Given the description of an element on the screen output the (x, y) to click on. 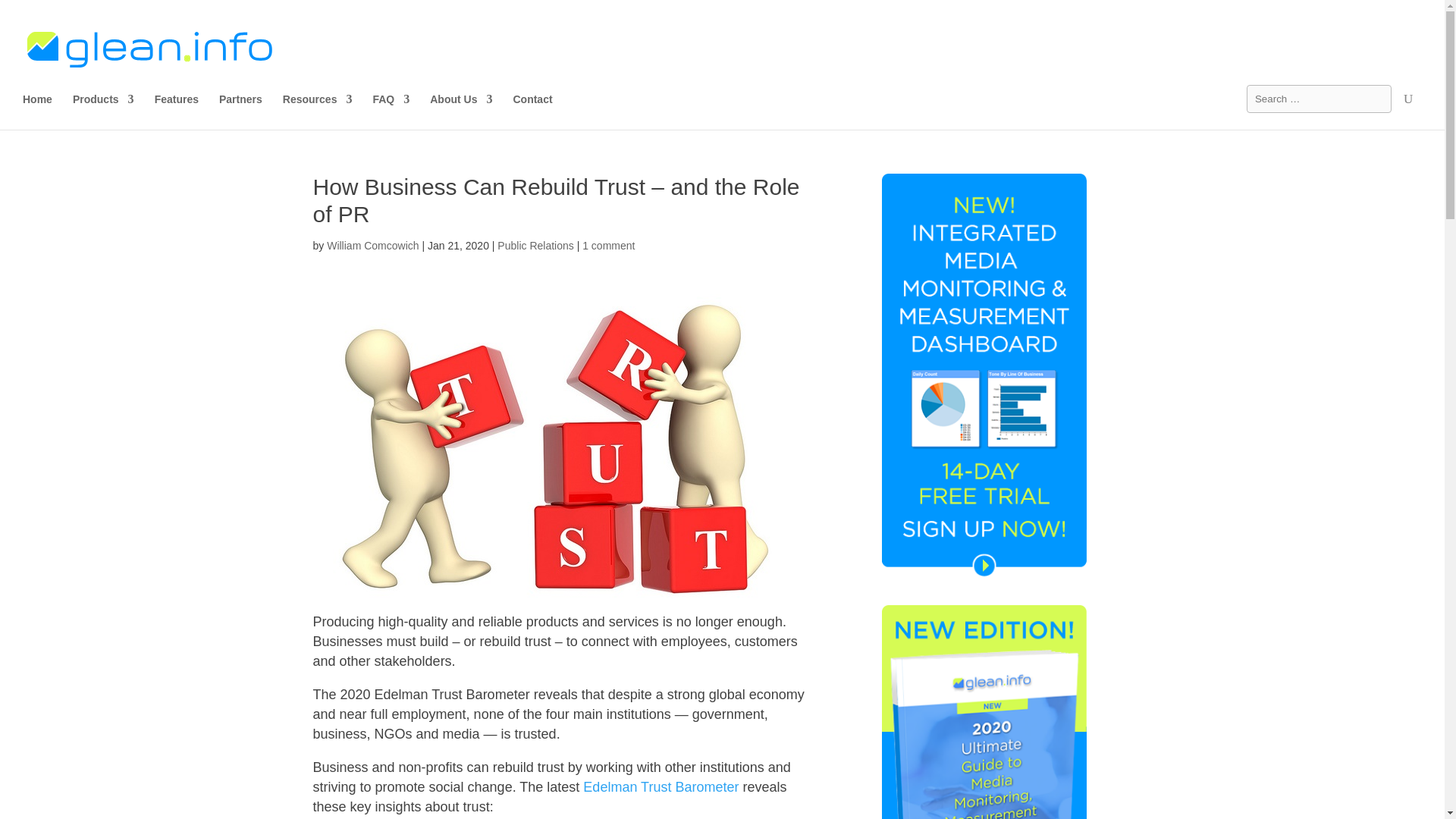
Resources (317, 111)
FAQ (390, 111)
Products (102, 111)
Partners (240, 111)
Features (176, 111)
Contact (531, 111)
Posts by William Comcowich (372, 245)
Search for: (1318, 99)
About Us (460, 111)
